Given the description of an element on the screen output the (x, y) to click on. 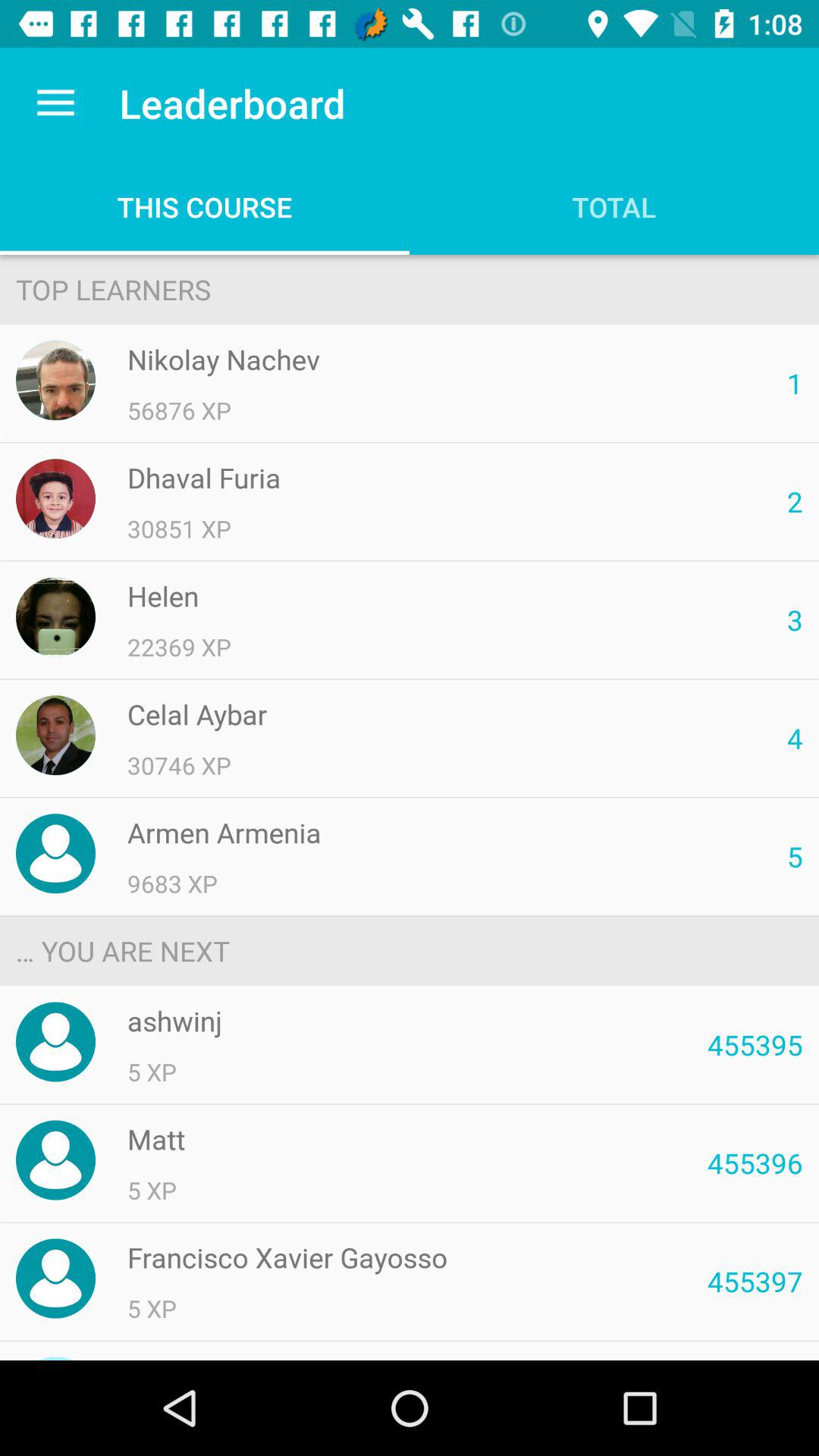
click on the 4th image from the top (55, 734)
click on the last image (55, 1279)
